Given the description of an element on the screen output the (x, y) to click on. 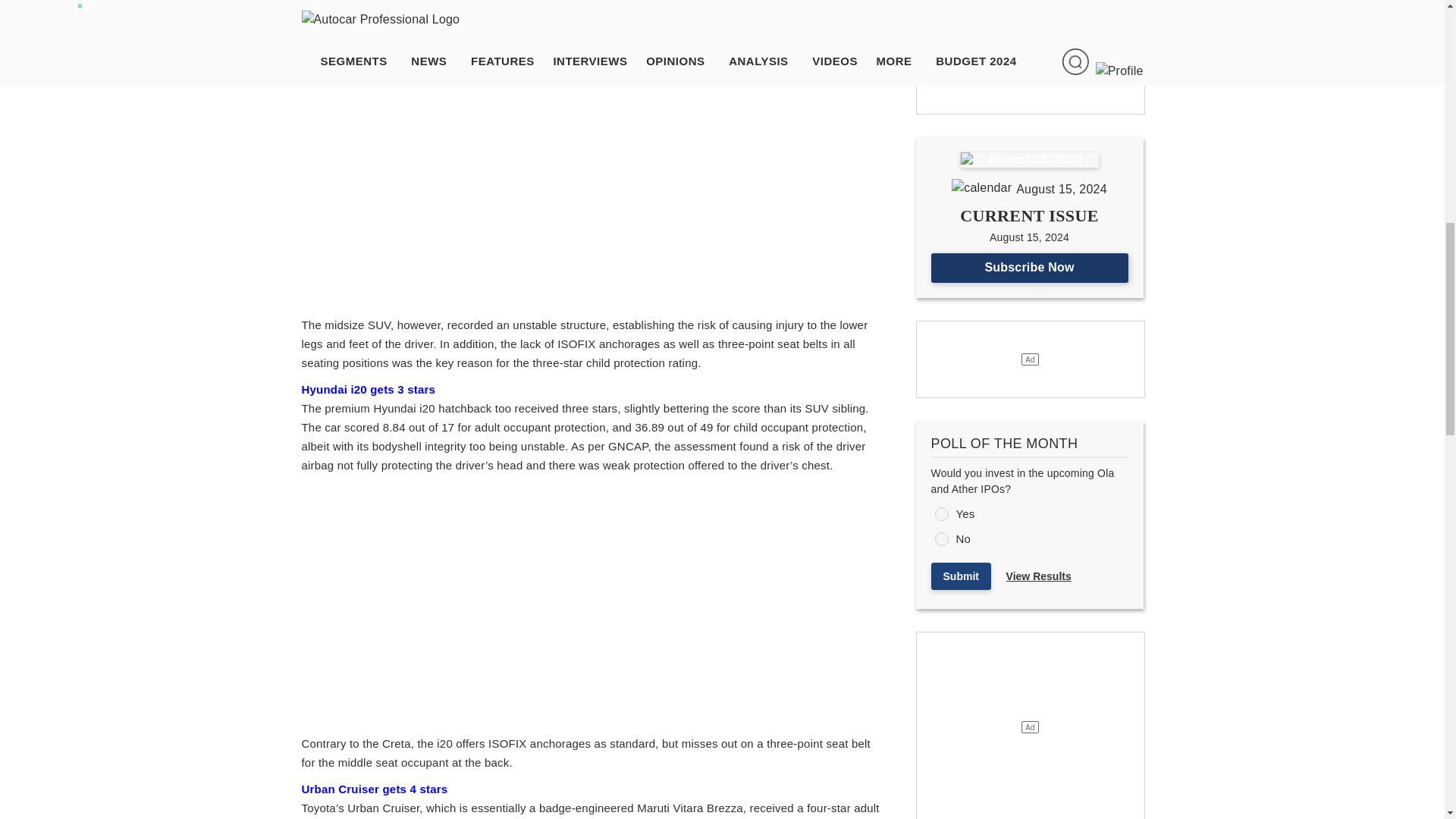
YouTube video player (513, 601)
YouTube video player (513, 182)
299 (940, 539)
298 (940, 513)
